Given the description of an element on the screen output the (x, y) to click on. 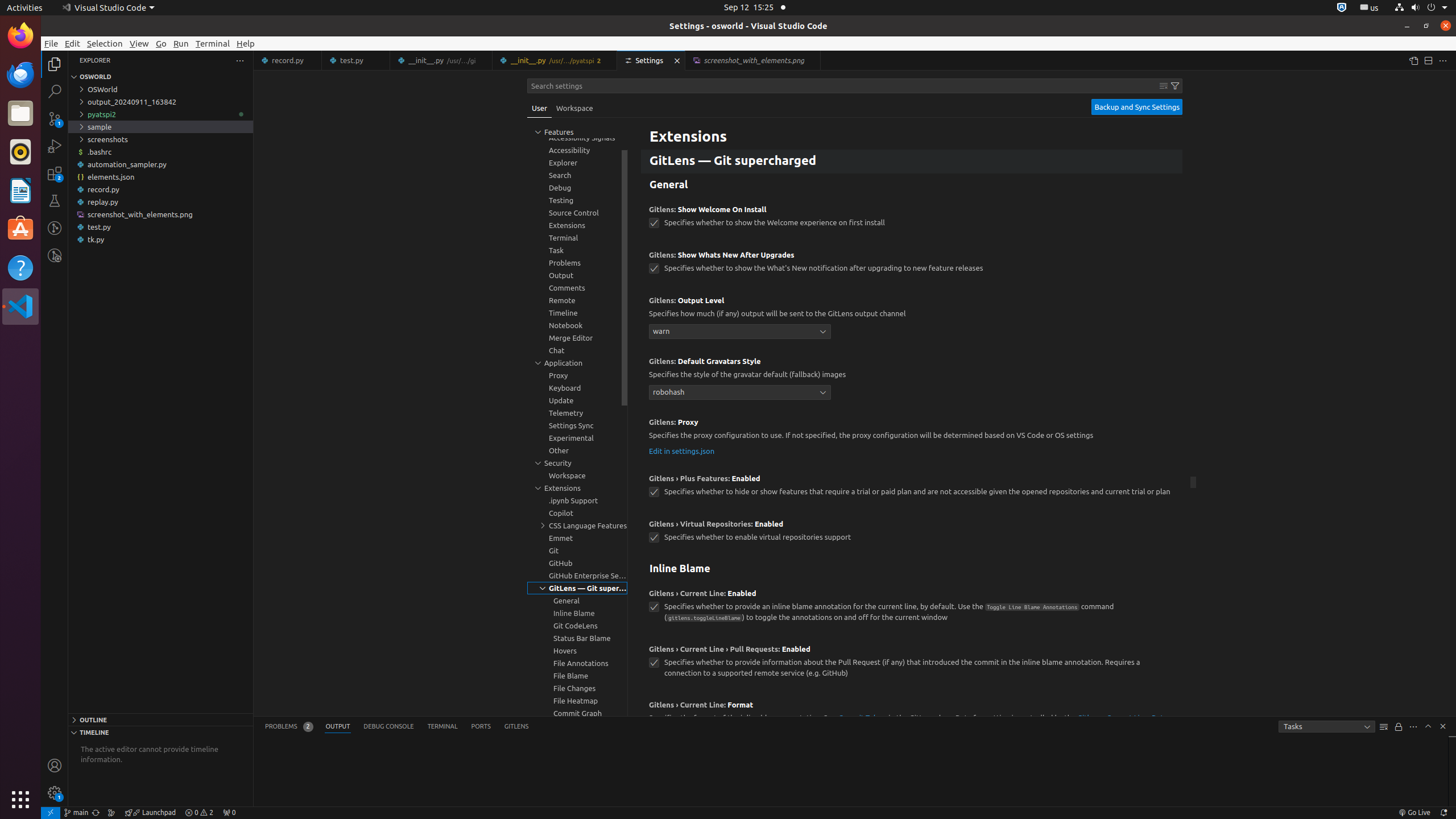
Notifications Element type: push-button (1443, 812)
Timeline, group Element type: tree-item (577, 312)
General Element type: tree-item (911, 185)
Open Settings (JSON) Element type: push-button (1413, 60)
